Given the description of an element on the screen output the (x, y) to click on. 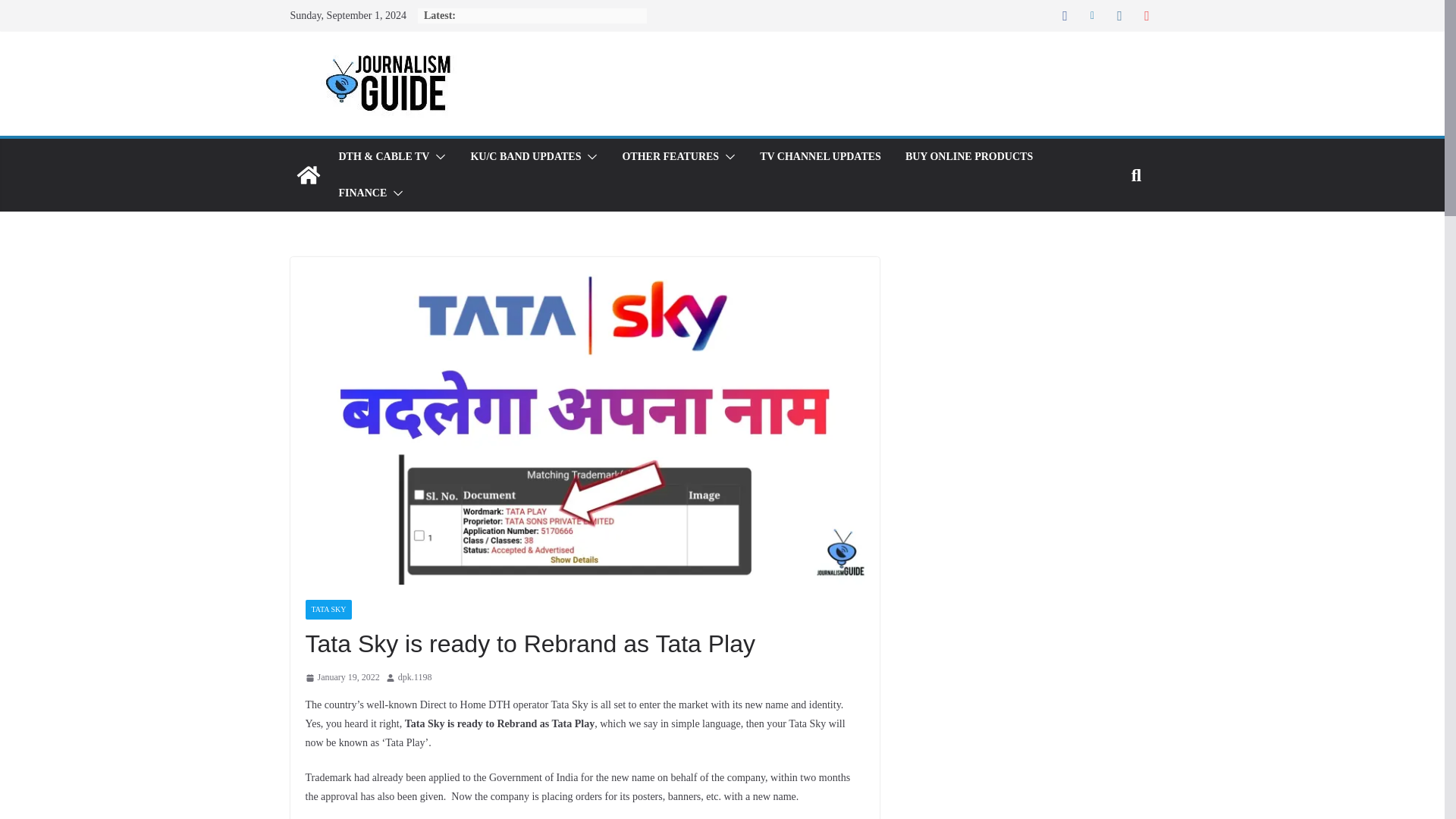
1:20 pm (341, 677)
Journalism Guide (307, 175)
TV CHANNEL UPDATES (820, 156)
OTHER FEATURES (670, 156)
dpk.1198 (414, 677)
